Given the description of an element on the screen output the (x, y) to click on. 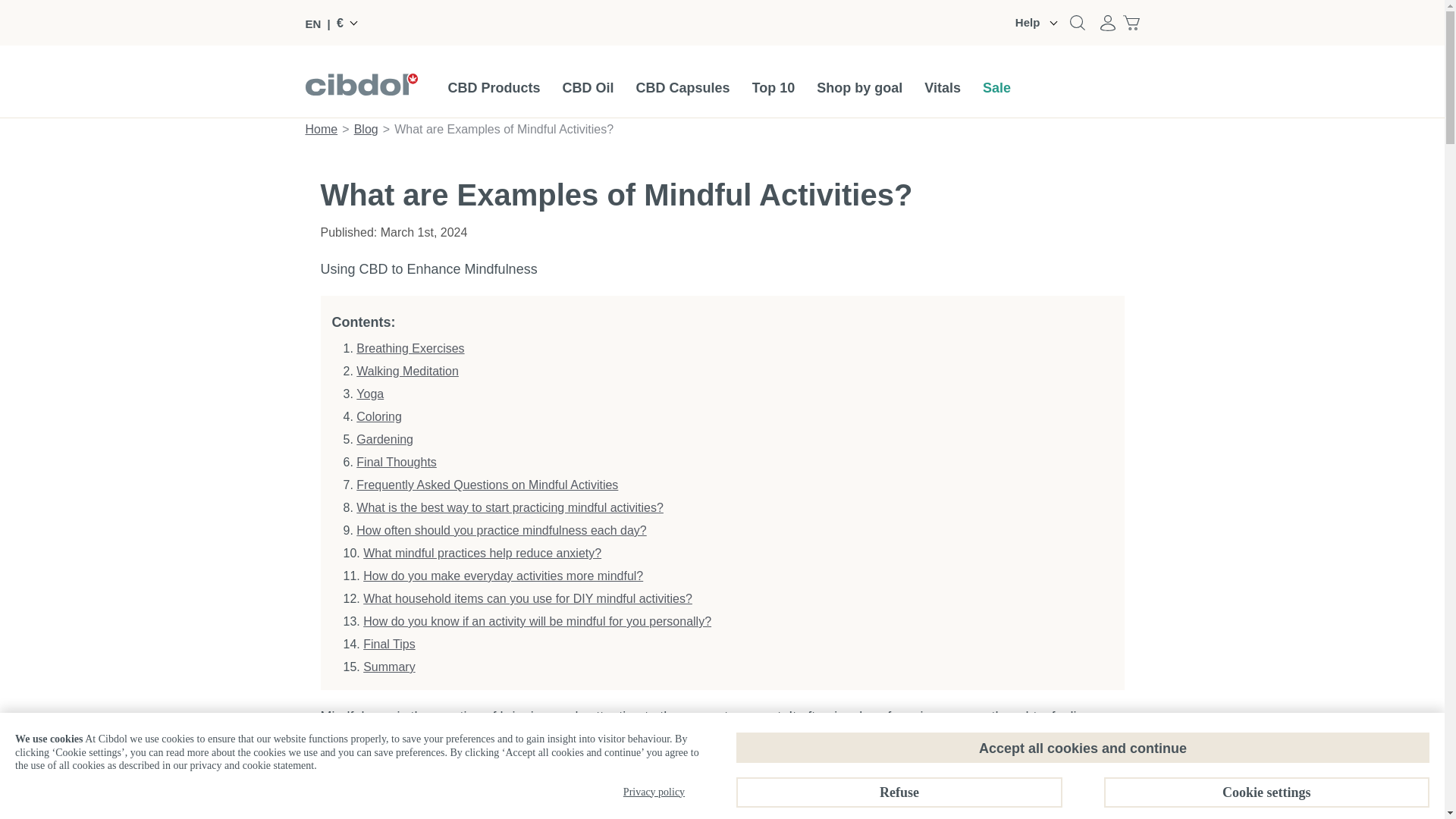
Shop by goal (859, 87)
CBD Oil (588, 87)
CBD Capsules (683, 87)
CBD Products (493, 87)
Top 10 (773, 87)
Login or Register (1107, 22)
